Given the description of an element on the screen output the (x, y) to click on. 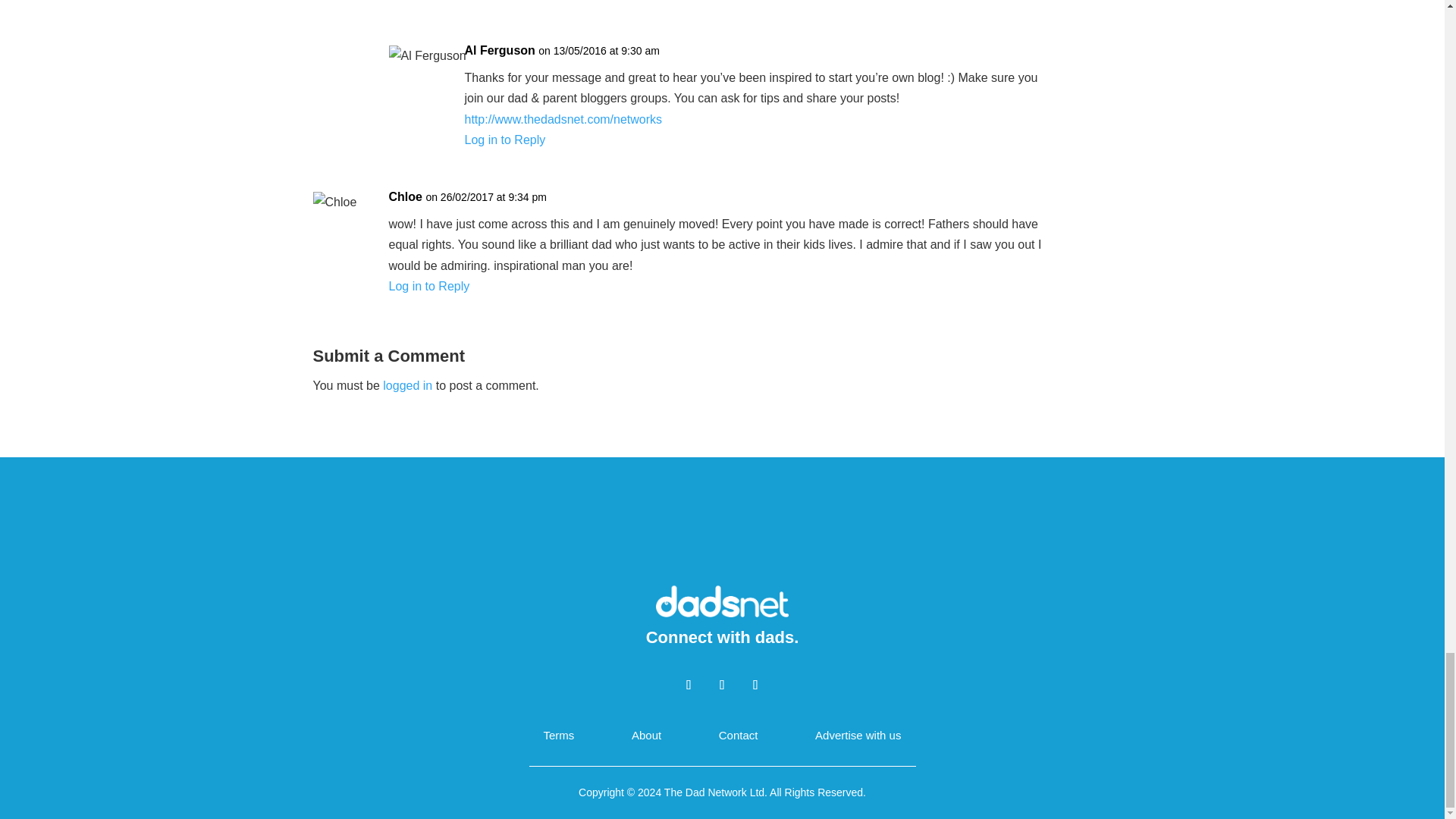
Dadsnet-Logo-White (722, 600)
Follow on Instagram (754, 684)
Follow on X (721, 684)
Follow on Facebook (688, 684)
3rd party ad content (722, 531)
